Given the description of an element on the screen output the (x, y) to click on. 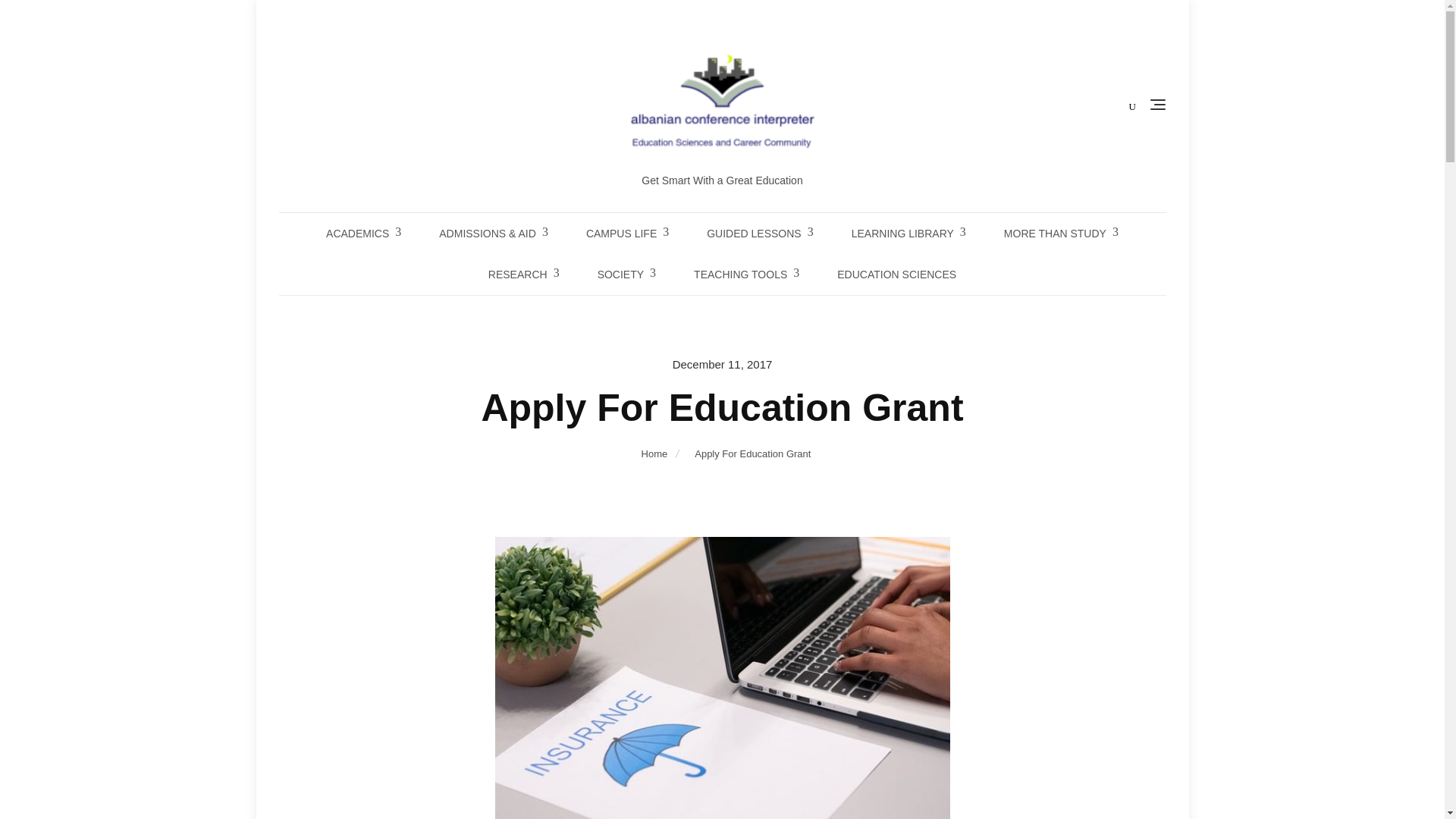
Search (42, 18)
